Given the description of an element on the screen output the (x, y) to click on. 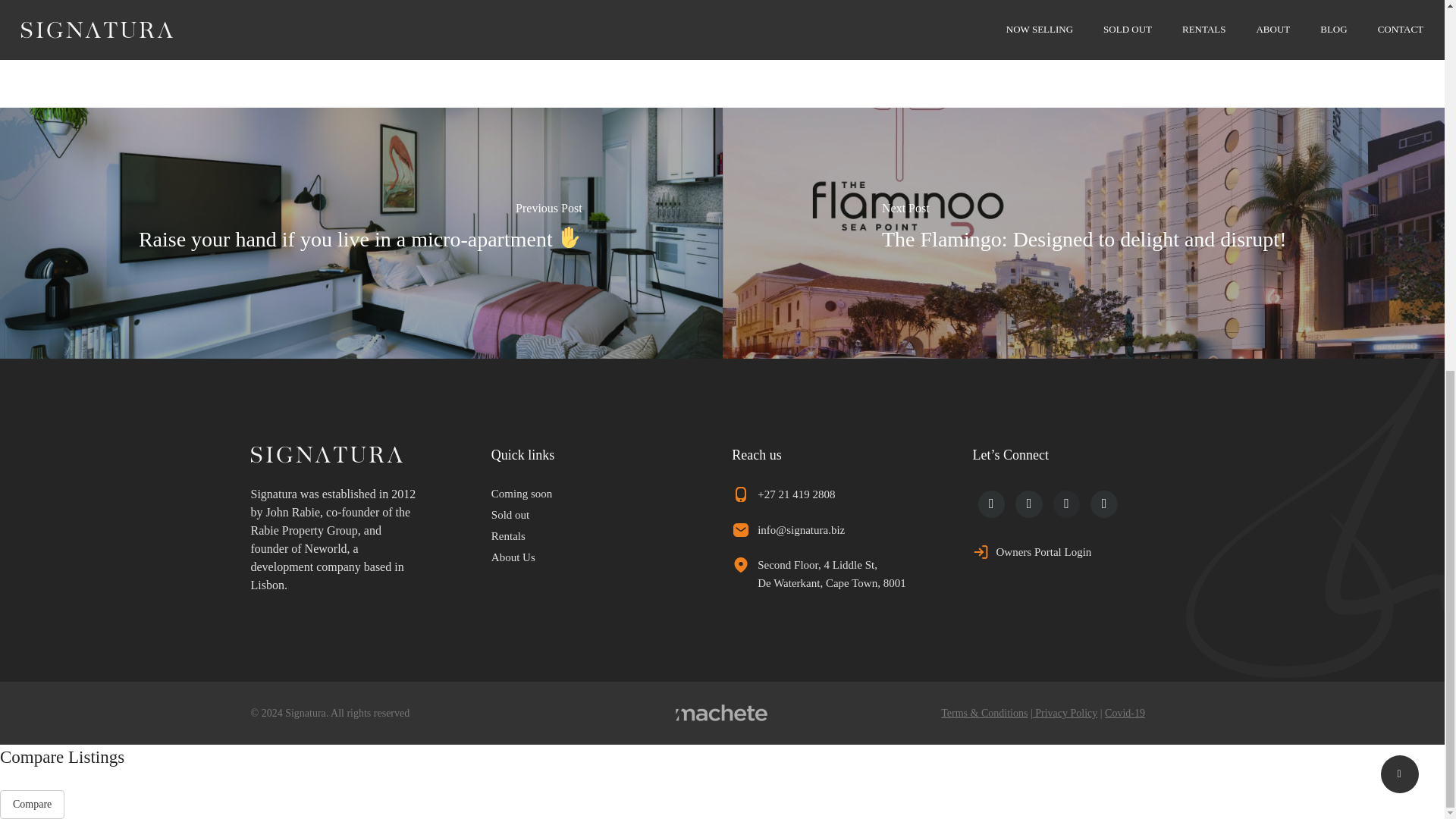
Sold out (510, 514)
Rentals (508, 535)
Privacy Policy (1064, 713)
Coming soon (521, 493)
Owners Portal Login (1043, 551)
About Us (513, 557)
